Given the description of an element on the screen output the (x, y) to click on. 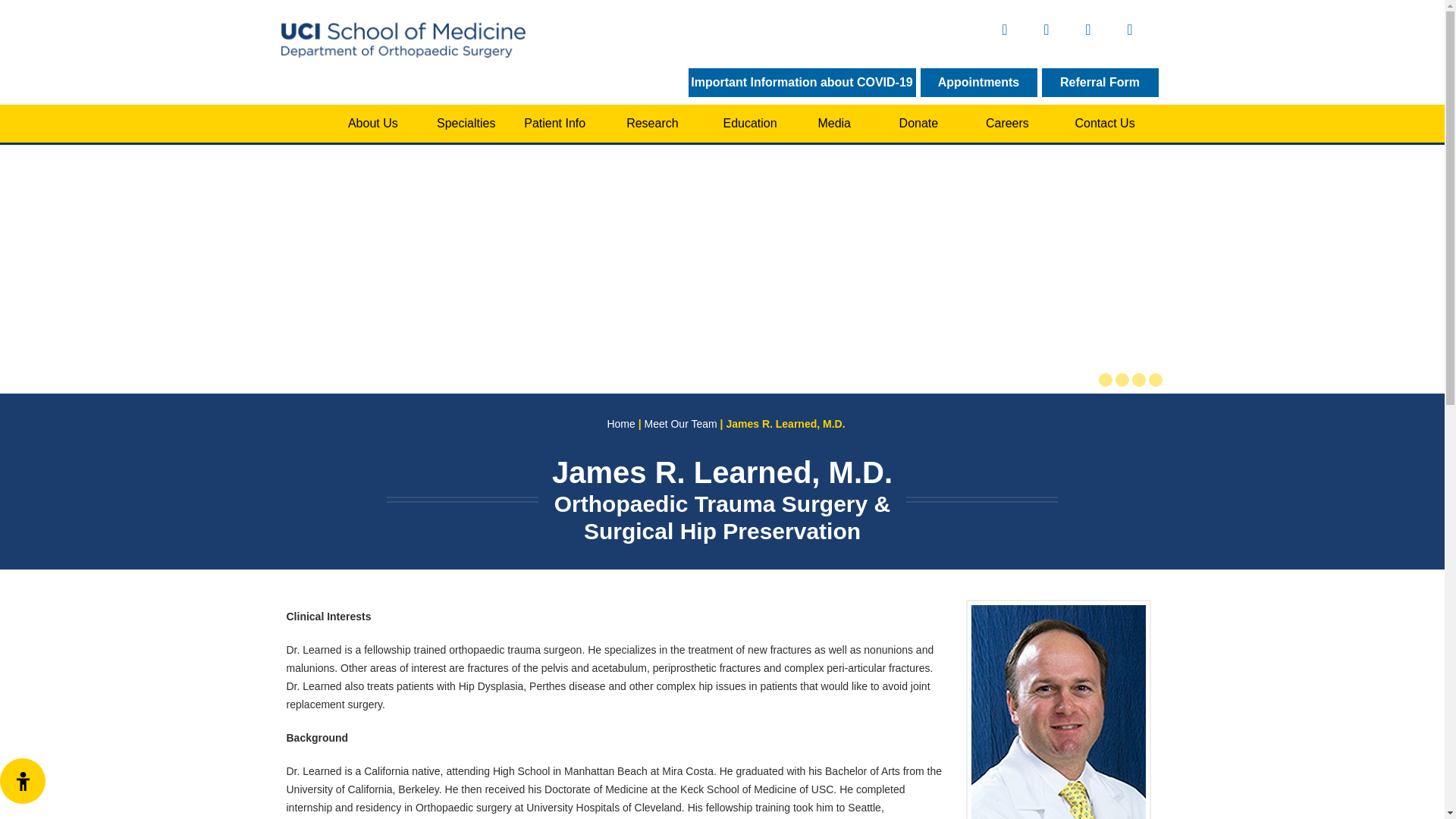
Specialties (466, 123)
Home (301, 123)
Appointments (978, 82)
About Us (373, 123)
Referral Form (1100, 82)
Hide (22, 781)
Important Information about COVID-19 (801, 82)
Patient Info (554, 123)
